Given the description of an element on the screen output the (x, y) to click on. 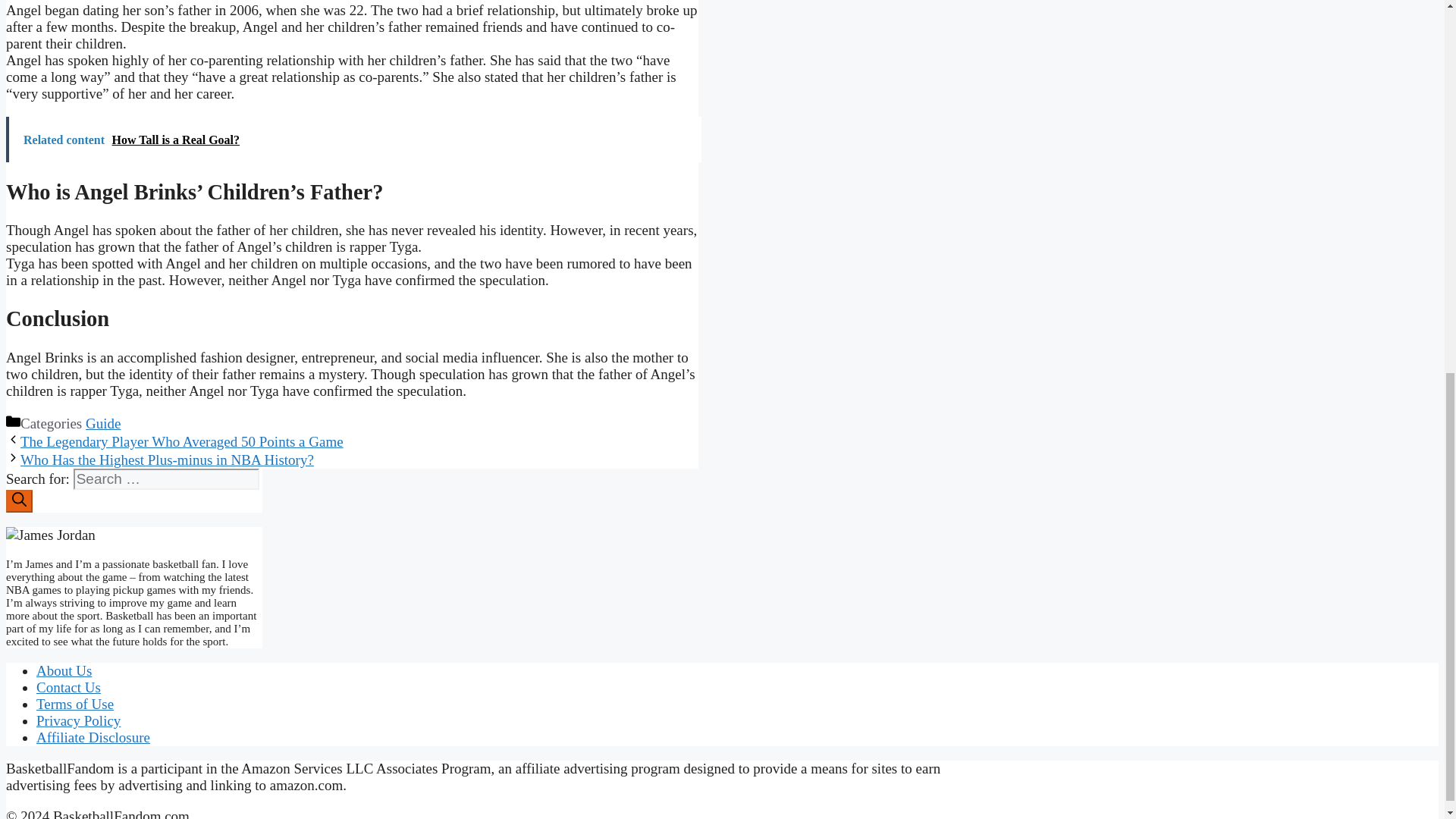
About Us (63, 670)
Affiliate Disclosure (92, 737)
The Legendary Player Who Averaged 50 Points a Game (181, 441)
Privacy Policy (78, 720)
Search for: (166, 478)
Contact Us (68, 687)
Related content  How Tall is a Real Goal? (353, 139)
Who Has the Highest Plus-minus in NBA History? (167, 459)
Guide (102, 423)
Terms of Use (74, 703)
